Given the description of an element on the screen output the (x, y) to click on. 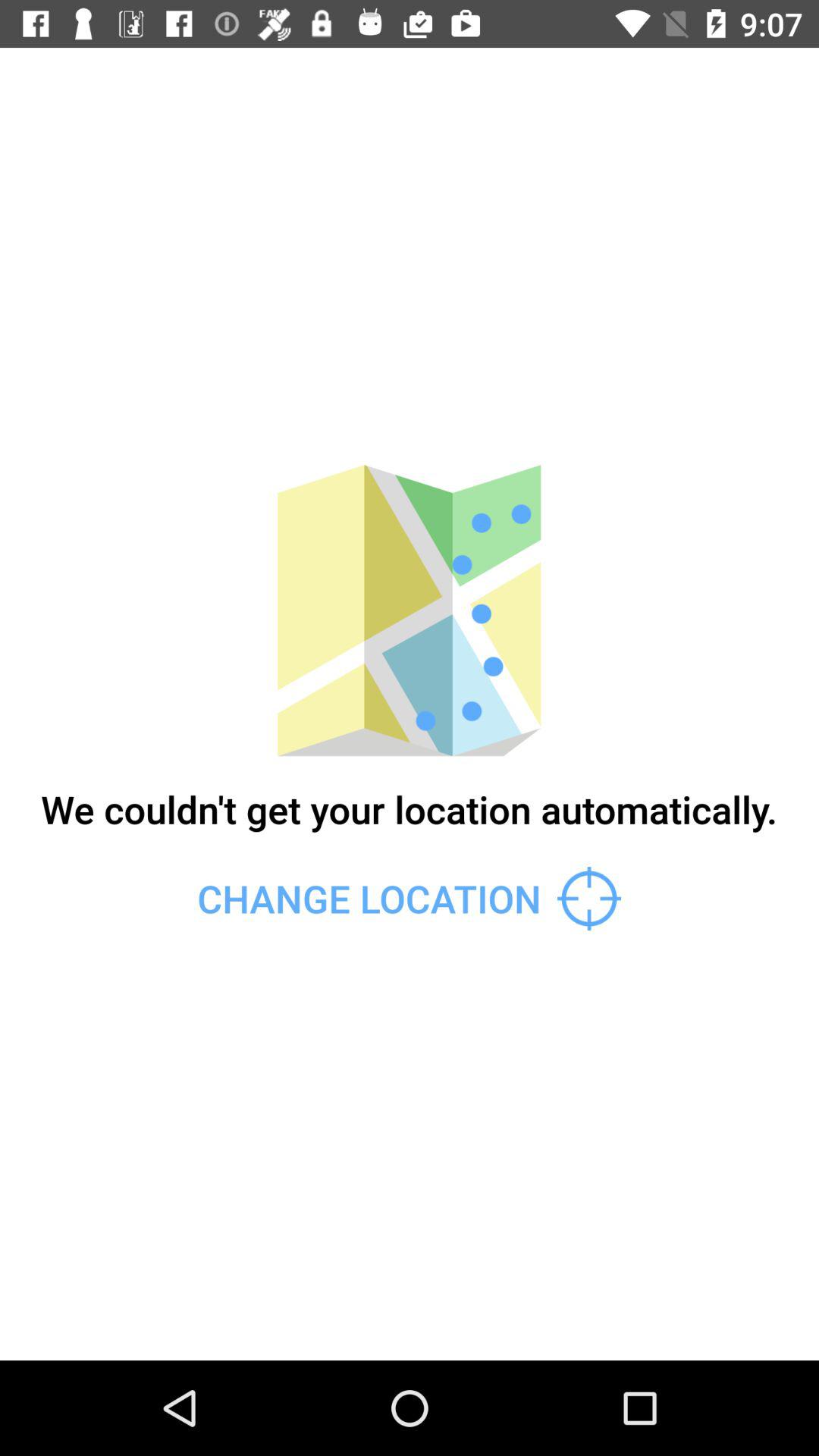
turn off the item below the we couldn t icon (409, 898)
